Given the description of an element on the screen output the (x, y) to click on. 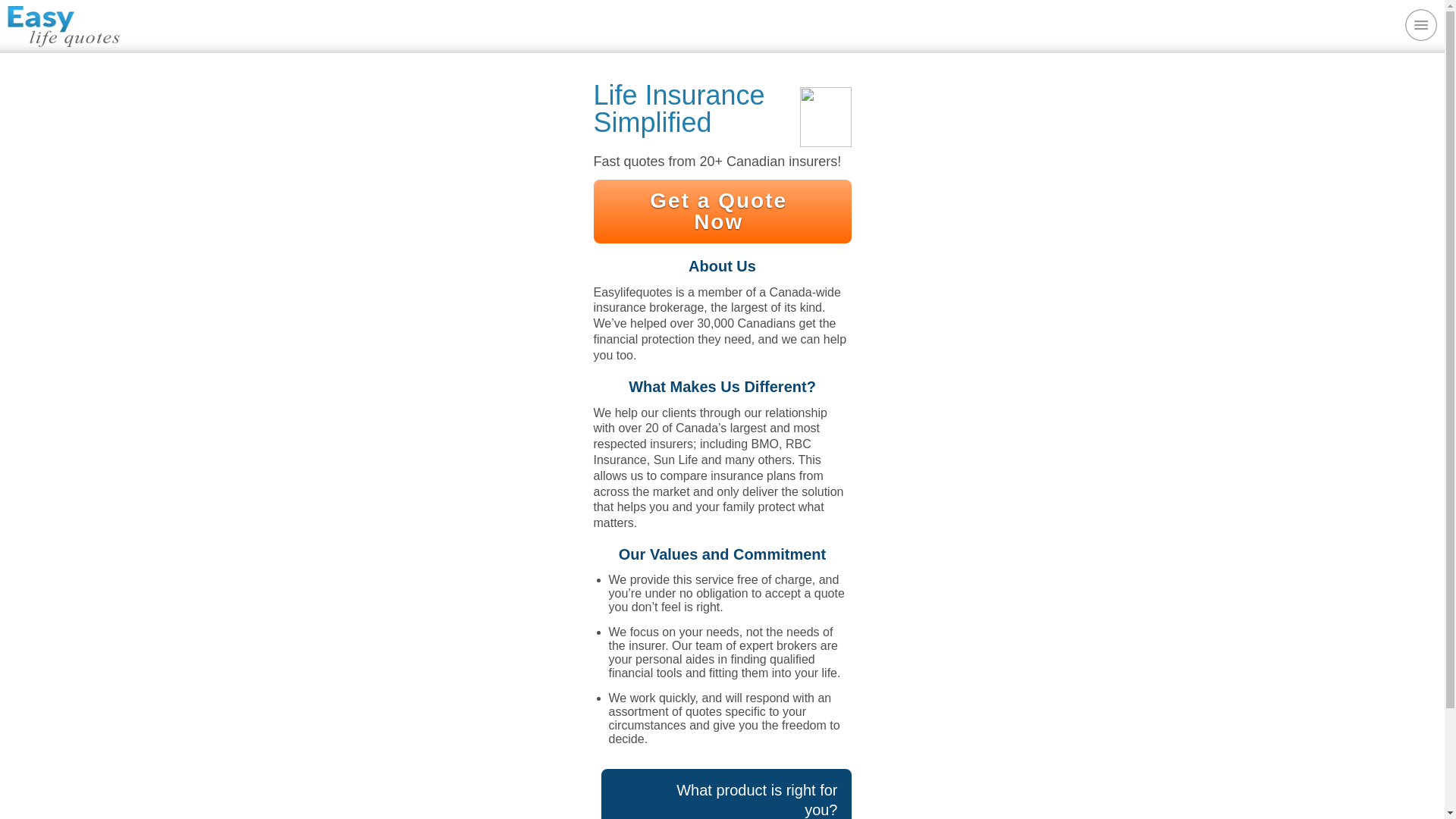
Get a Quote Now (721, 211)
What product is right for you? (724, 794)
